Given the description of an element on the screen output the (x, y) to click on. 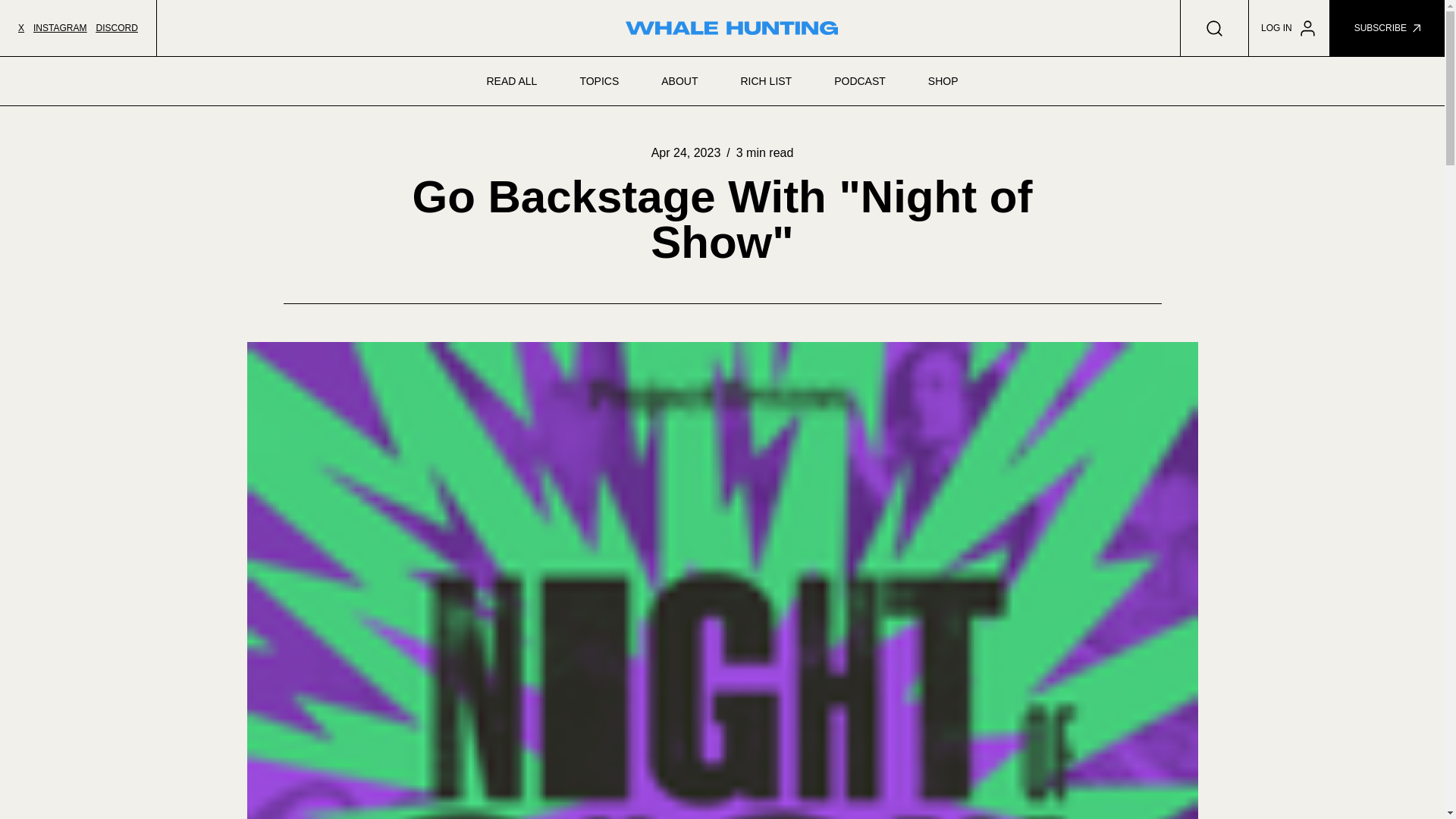
TOPICS (598, 80)
LOG IN (1289, 28)
RICH LIST (765, 80)
SHOP (943, 80)
READ ALL (511, 80)
DISCORD (116, 28)
PODCAST (859, 80)
INSTAGRAM (59, 28)
ABOUT (679, 80)
